Given the description of an element on the screen output the (x, y) to click on. 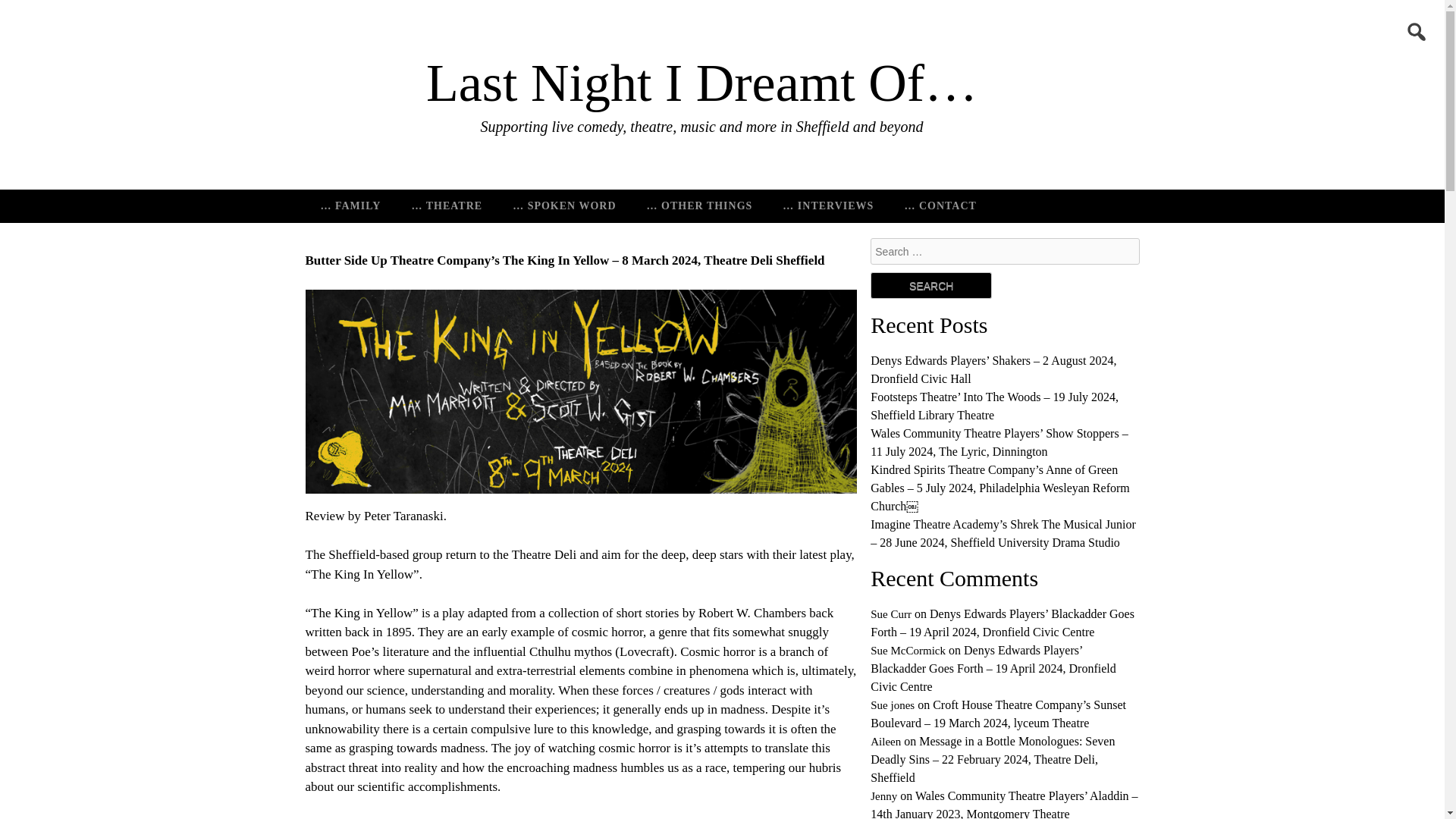
Search (930, 284)
Search (930, 284)
Search (930, 284)
Search (60, 13)
